Given the description of an element on the screen output the (x, y) to click on. 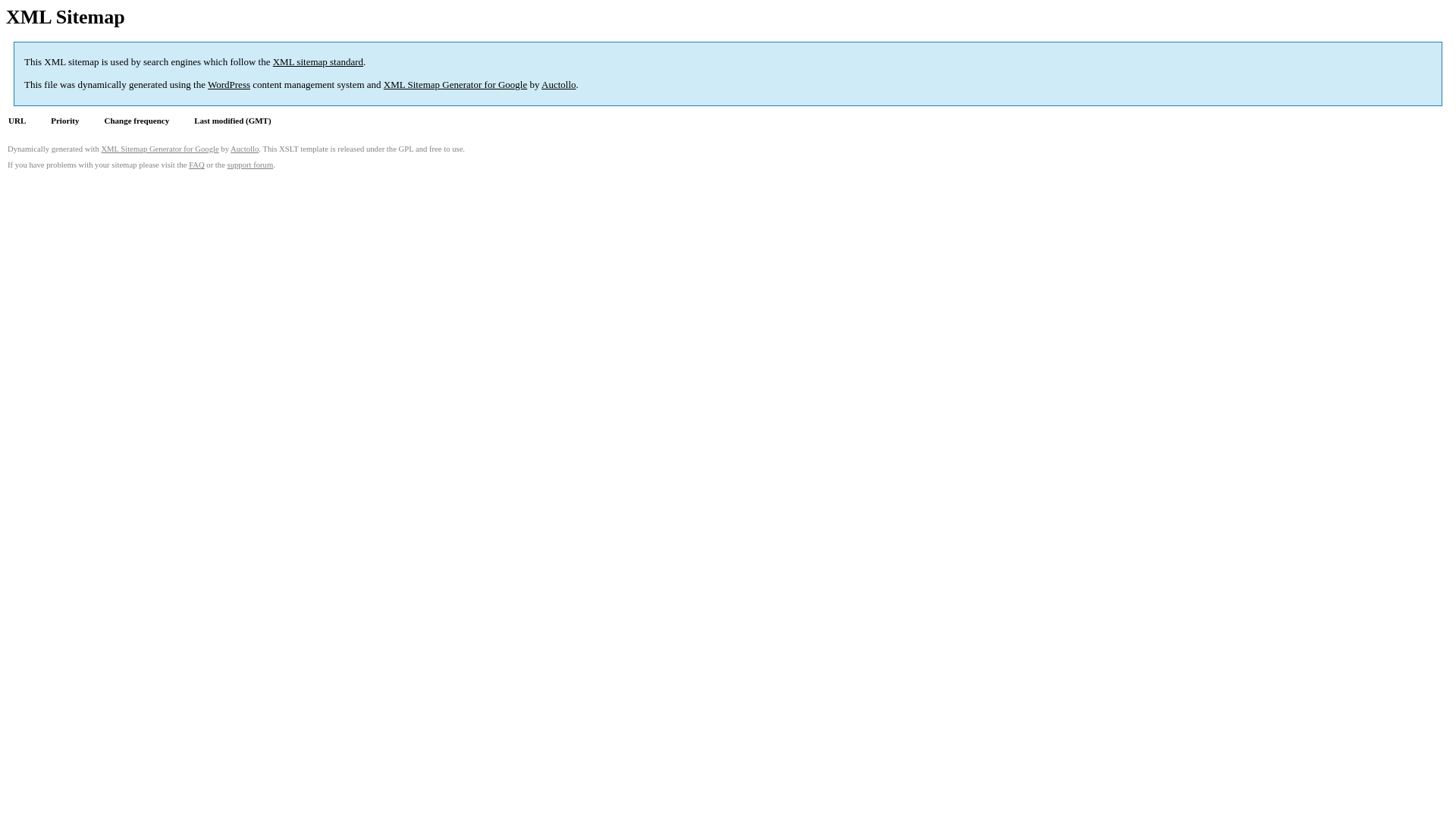
XML Sitemap Generator for Google Element type: text (455, 84)
WordPress Element type: text (228, 84)
Auctollo Element type: text (558, 84)
XML Sitemap Generator for Google Element type: text (159, 148)
FAQ Element type: text (196, 164)
XML sitemap standard Element type: text (318, 61)
support forum Element type: text (250, 164)
Auctollo Element type: text (244, 148)
